Given the description of an element on the screen output the (x, y) to click on. 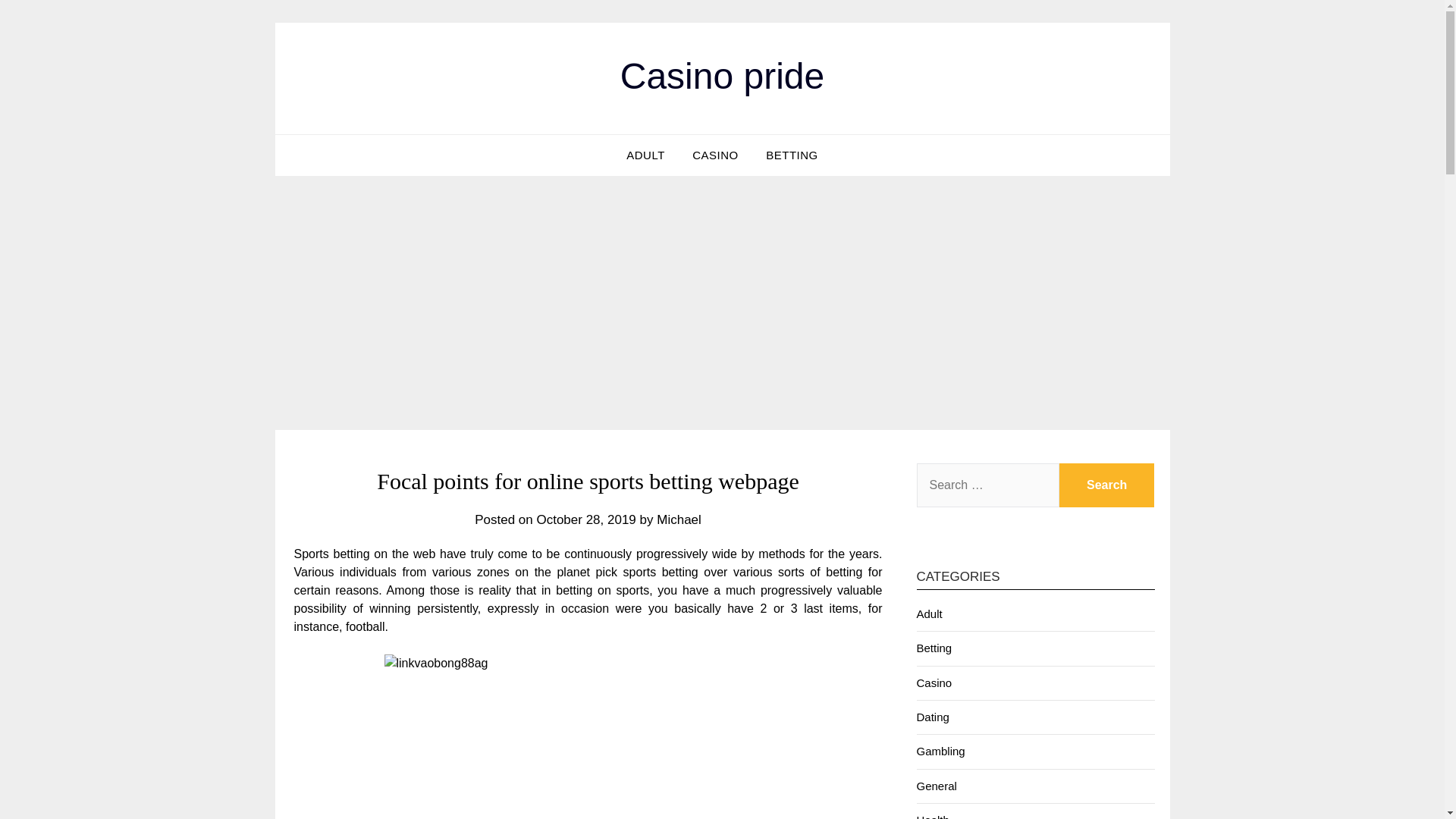
Gambling (939, 750)
BETTING (791, 155)
Michael (678, 519)
Search (1106, 484)
CASINO (715, 155)
Dating (932, 716)
Health (932, 816)
Search (1106, 484)
ADULT (645, 155)
Betting (933, 647)
Search (1106, 484)
Casino pride (722, 76)
October 28, 2019 (584, 519)
Adult (928, 613)
General (935, 785)
